Given the description of an element on the screen output the (x, y) to click on. 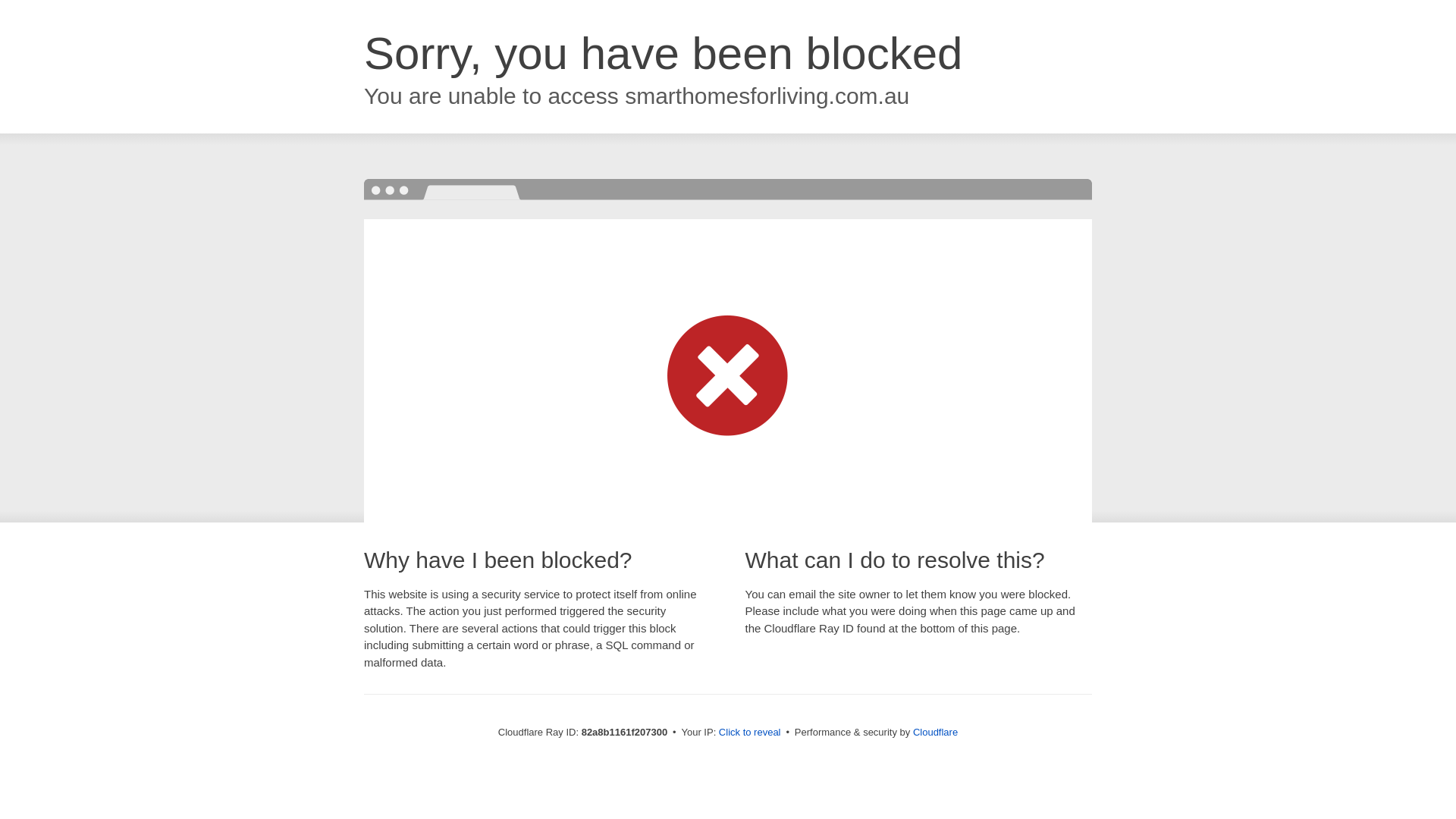
Click to reveal Element type: text (749, 732)
Cloudflare Element type: text (935, 731)
